Given the description of an element on the screen output the (x, y) to click on. 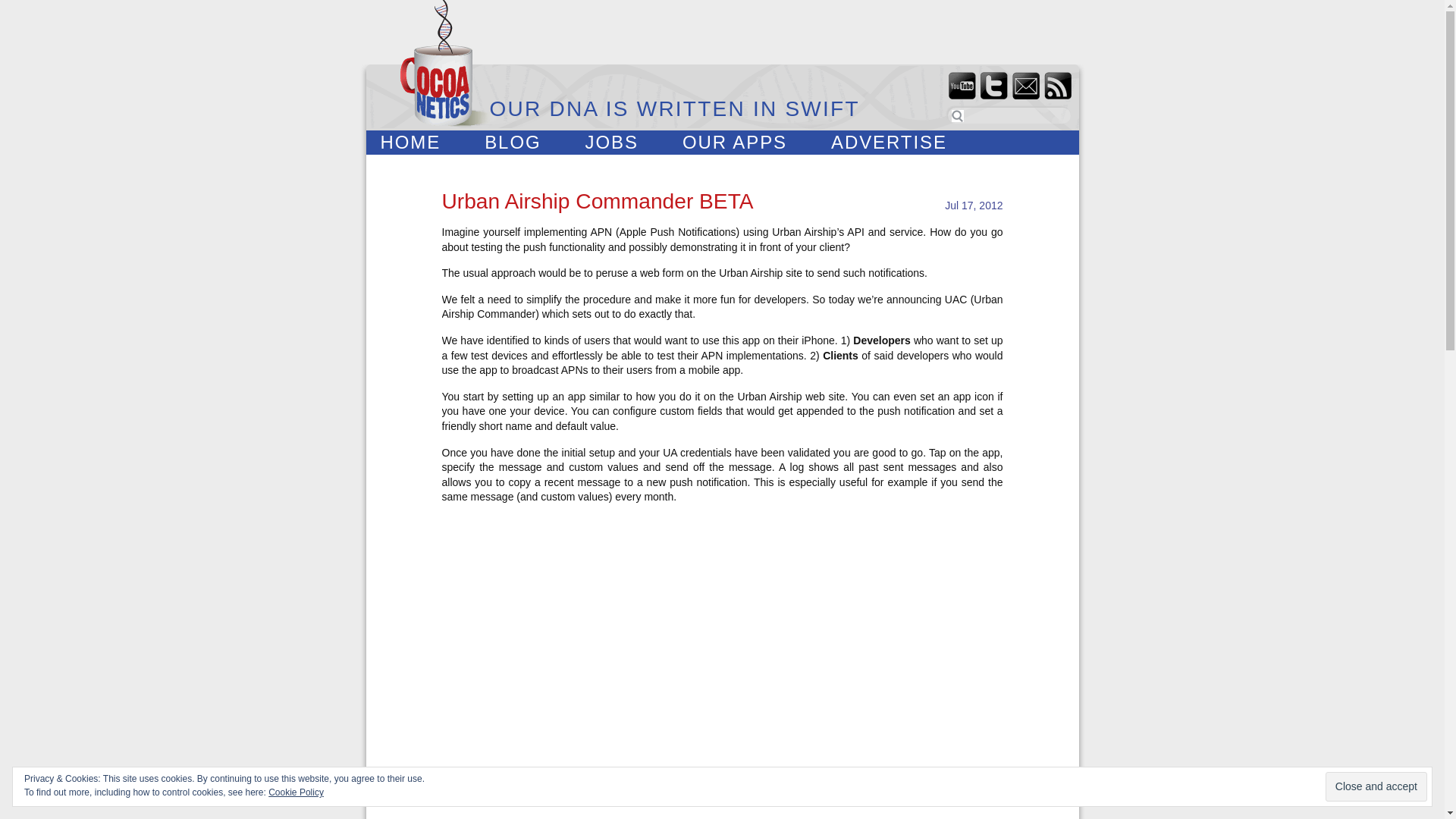
OUR APPS (734, 143)
Youtube (961, 85)
Email (1025, 85)
ADVERTISE (888, 143)
RSS (1056, 85)
Youtube (961, 85)
Jul 17, 2012 (973, 205)
Email (1025, 85)
Twitter (993, 85)
RSS (1056, 85)
Twitter (993, 85)
BLOG (512, 143)
Close and accept (1375, 786)
HOME (409, 143)
